Given the description of an element on the screen output the (x, y) to click on. 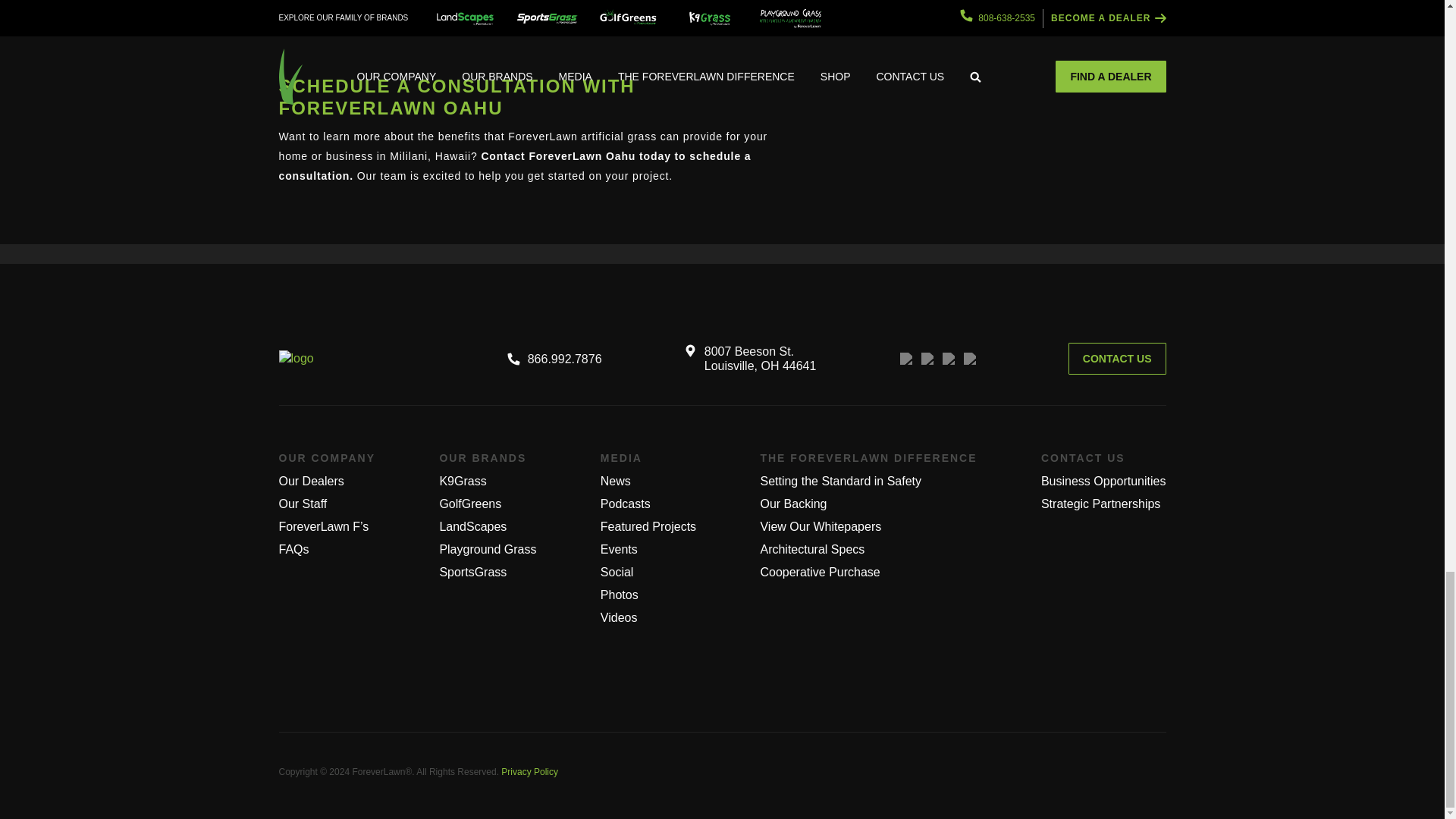
866.992.7876 (554, 358)
SportsGrass02 (680, 9)
